Given the description of an element on the screen output the (x, y) to click on. 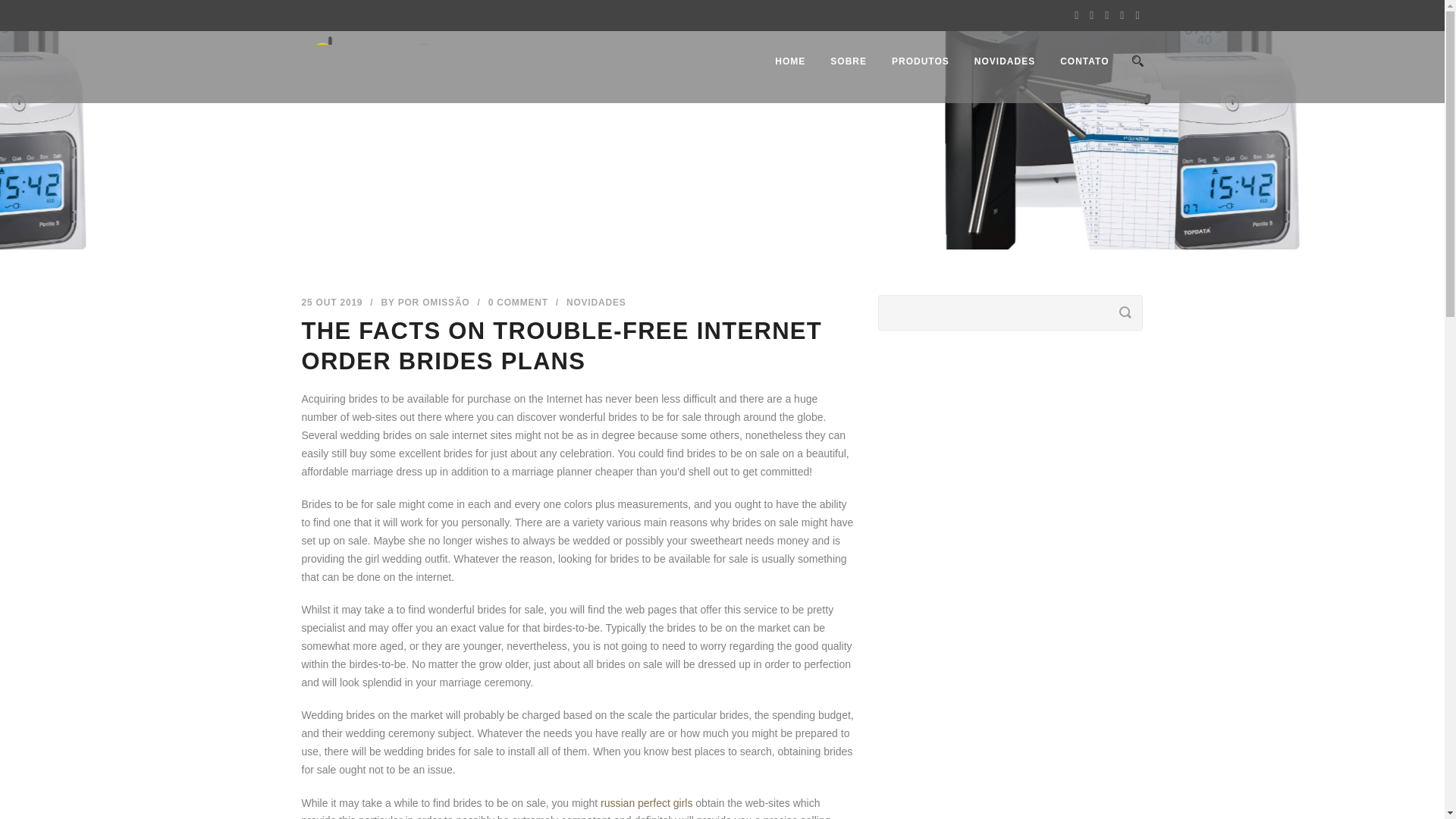
russian perfect girls (646, 802)
0 COMMENT (517, 302)
NOVIDADES (992, 78)
NOVIDADES (596, 302)
PRODUTOS (907, 78)
25 OUT 2019 (331, 302)
CONTATO (1071, 78)
SOBRE (835, 78)
